Given the description of an element on the screen output the (x, y) to click on. 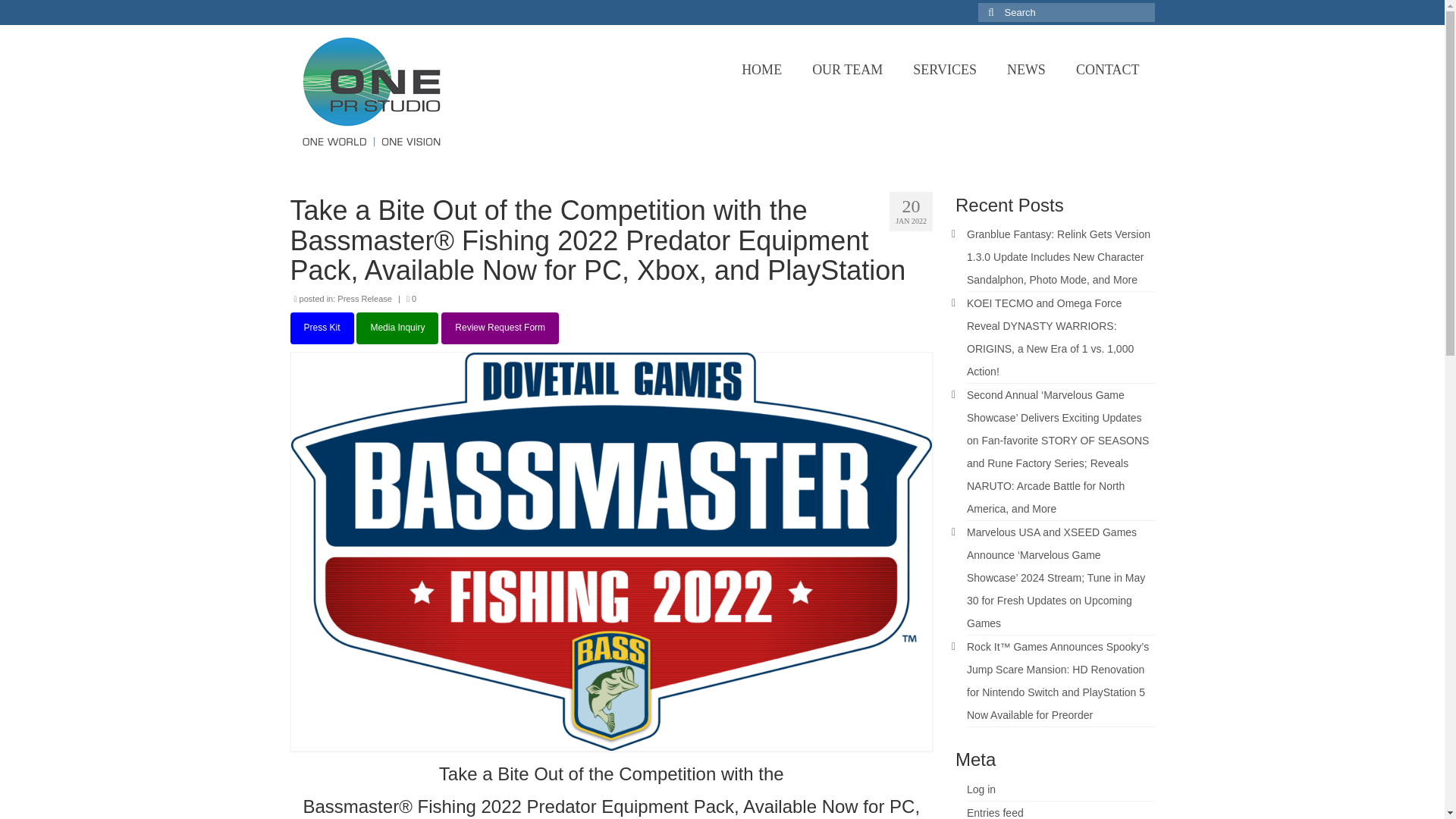
OUR TEAM (847, 69)
HOME (761, 69)
NEWS (1026, 69)
SERVICES (944, 69)
Review Request Form (500, 327)
Press Release (364, 298)
Media Inquiry (397, 327)
Press Kit (321, 327)
Log in (980, 788)
CONTACT (1107, 69)
